Given the description of an element on the screen output the (x, y) to click on. 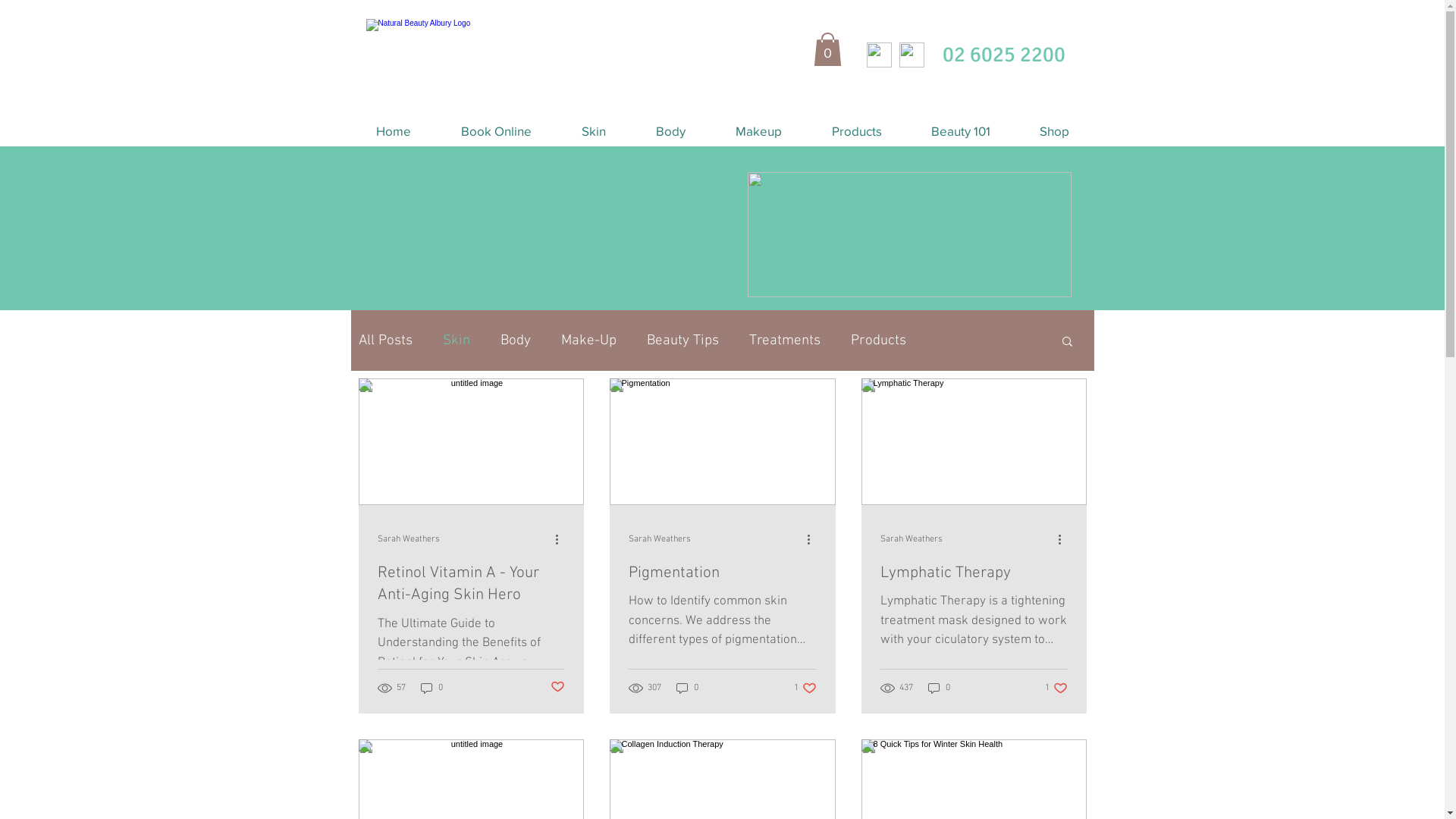
1 like. Post not marked as liked
1 Element type: text (804, 687)
Natural Beauty Skin Clinic Logo Element type: hover (479, 46)
Home Element type: text (392, 131)
Beauty 101 Element type: text (960, 131)
Products Element type: text (878, 340)
Skin Element type: text (456, 340)
0 Element type: text (430, 687)
0 Element type: text (826, 48)
Make-Up Element type: text (588, 340)
All Posts Element type: text (384, 340)
Beauty Tips Element type: text (682, 340)
Sarah Weathers Element type: text (408, 539)
Treatments Element type: text (784, 340)
Shop Element type: text (1053, 131)
Sarah Weathers Element type: text (910, 539)
0 Element type: text (938, 687)
0 Element type: text (686, 687)
1 like. Post not marked as liked
1 Element type: text (1055, 687)
Retinol Vitamin A - Your Anti-Aging Skin Hero Element type: text (470, 583)
Book Online Element type: text (495, 131)
Pigmentation Element type: text (721, 572)
Body Element type: text (515, 340)
Sarah Weathers Element type: text (658, 539)
Post not marked as liked Element type: text (557, 687)
Lymphatic Therapy Element type: text (972, 572)
